Given the description of an element on the screen output the (x, y) to click on. 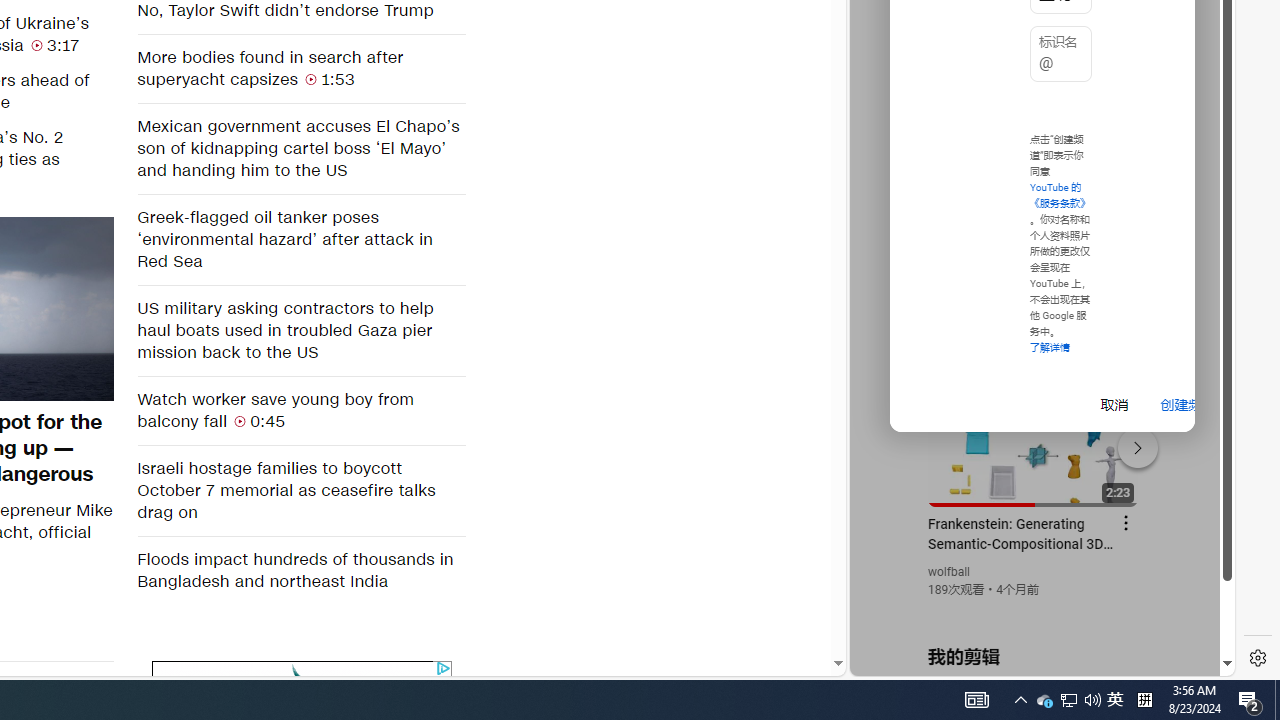
Tray Input Indicator - Chinese (Simplified, China) (1144, 699)
Q2790: 100% (1044, 699)
Click to scroll right (1092, 699)
Class: container__video-duration-icon (1196, 83)
US[ju] (240, 420)
